Given the description of an element on the screen output the (x, y) to click on. 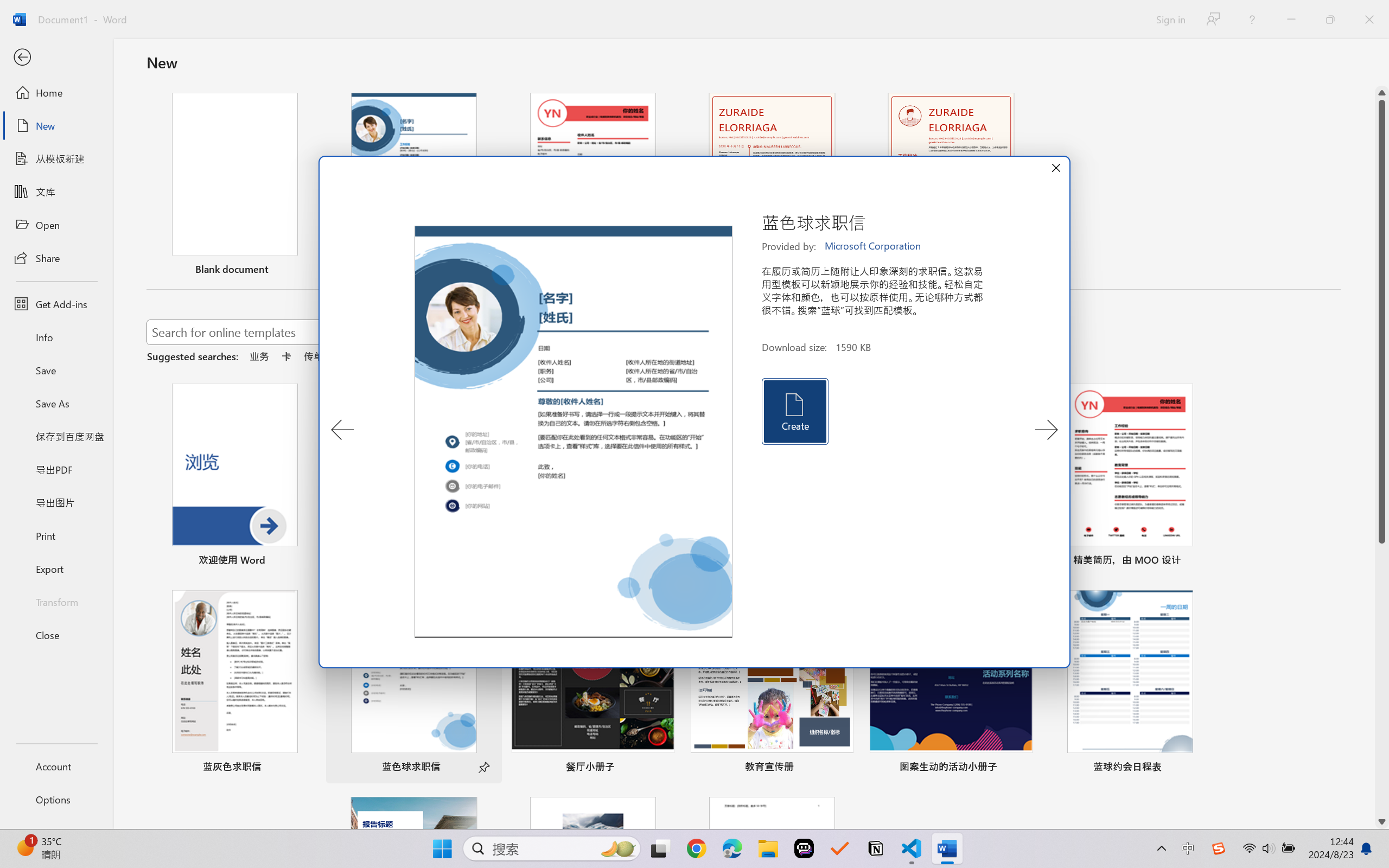
Previous Template (342, 430)
Pin to list (1200, 767)
Page down (1382, 679)
